Given the description of an element on the screen output the (x, y) to click on. 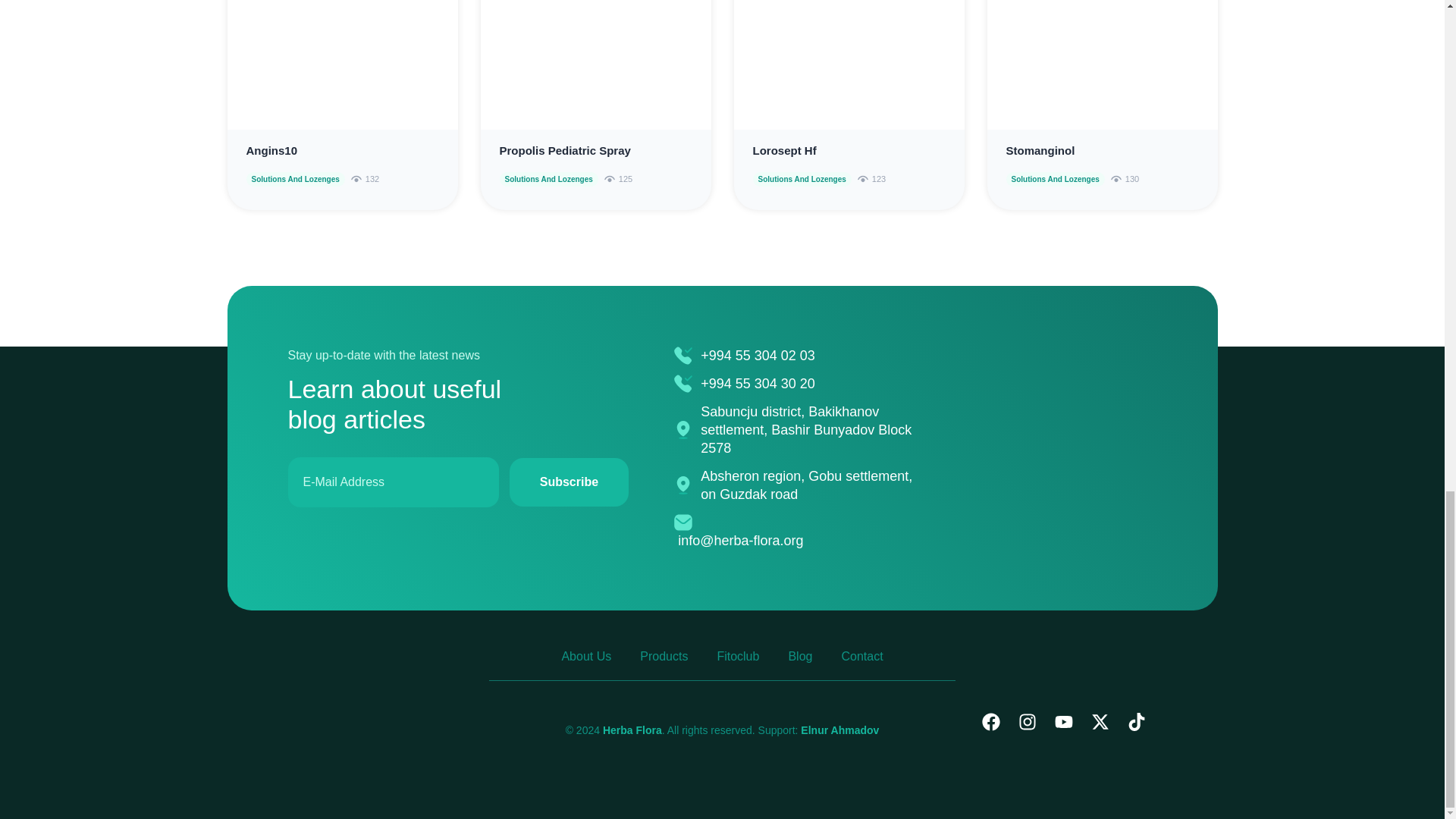
Subscribe (568, 481)
